Given the description of an element on the screen output the (x, y) to click on. 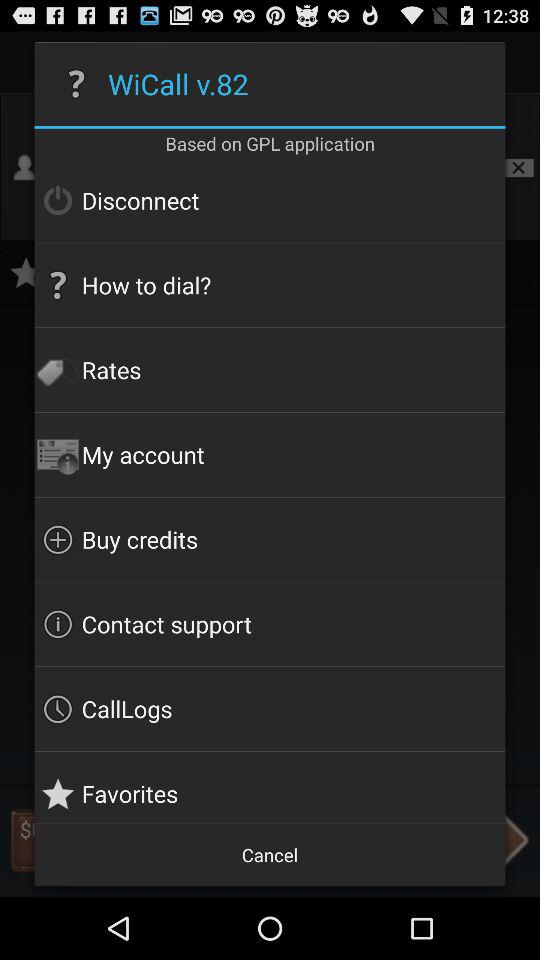
press rates icon (269, 370)
